Given the description of an element on the screen output the (x, y) to click on. 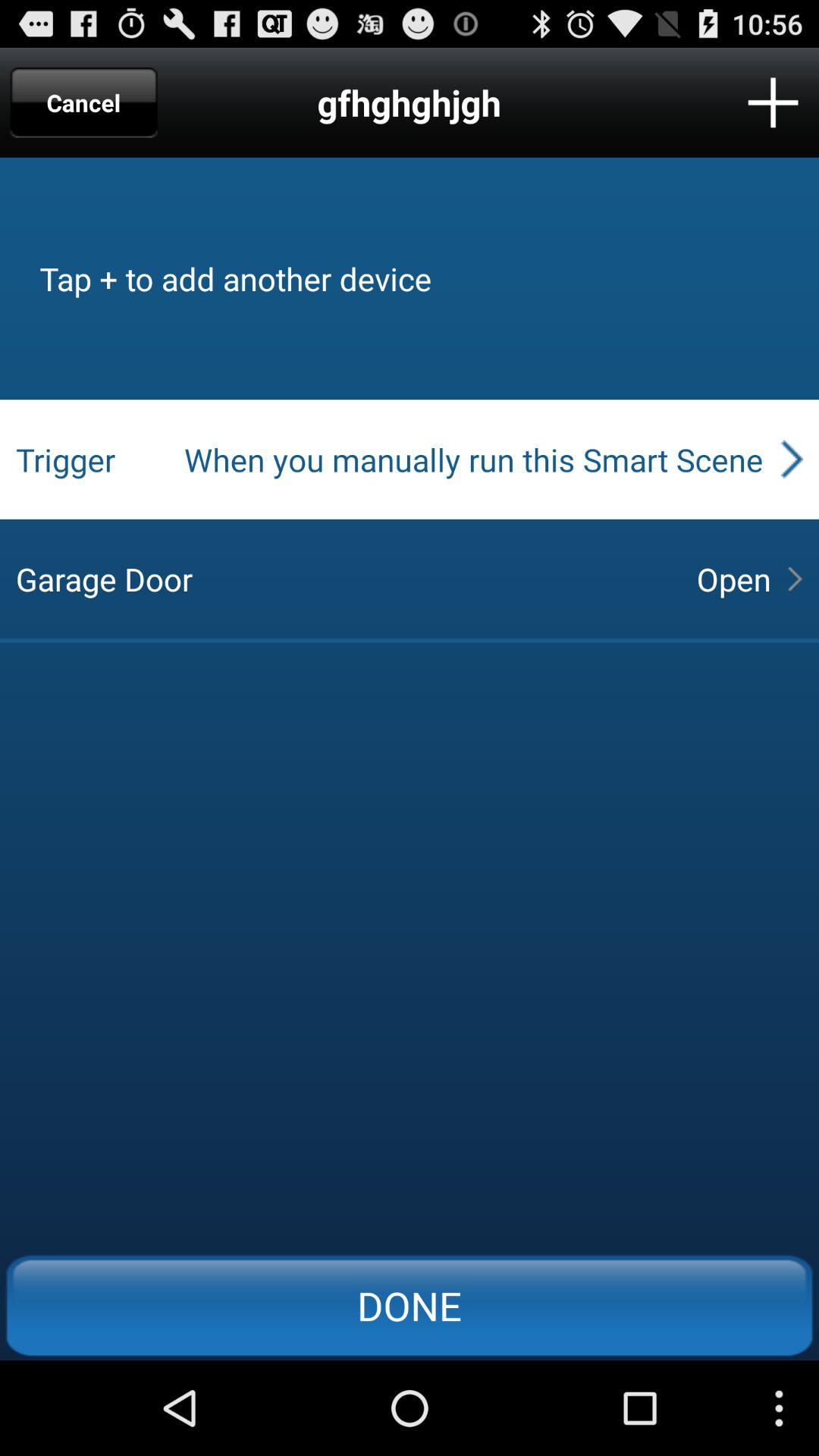
add device (773, 102)
